Given the description of an element on the screen output the (x, y) to click on. 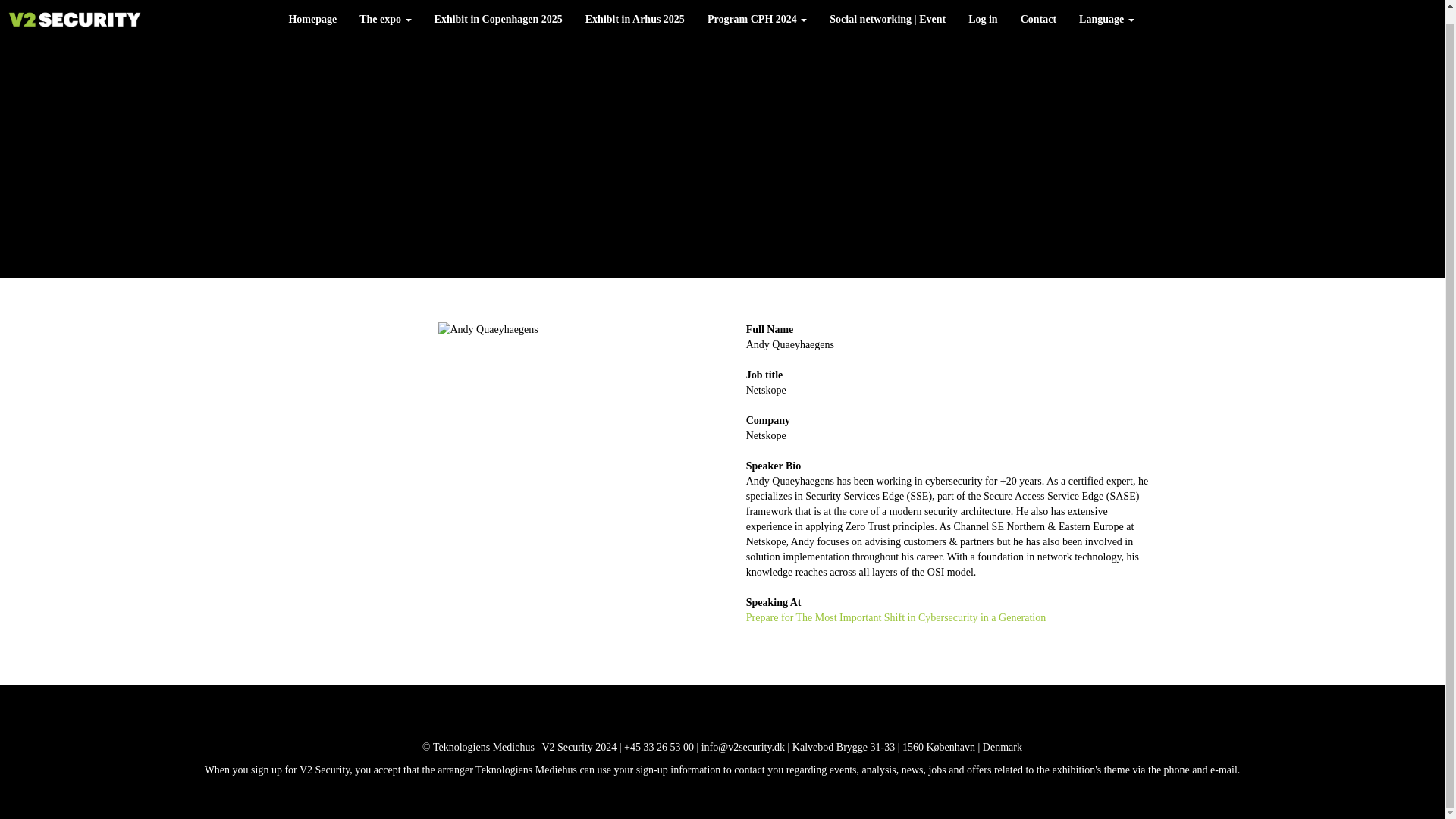
Language (1106, 8)
Program CPH 2024 (756, 8)
Session Details (895, 617)
Homepage (311, 8)
Contact (1038, 8)
Exhibit in Copenhagen 2025 (498, 8)
Exhibit in Arhus 2025 (634, 8)
Log in (982, 8)
The expo (384, 8)
